Given the description of an element on the screen output the (x, y) to click on. 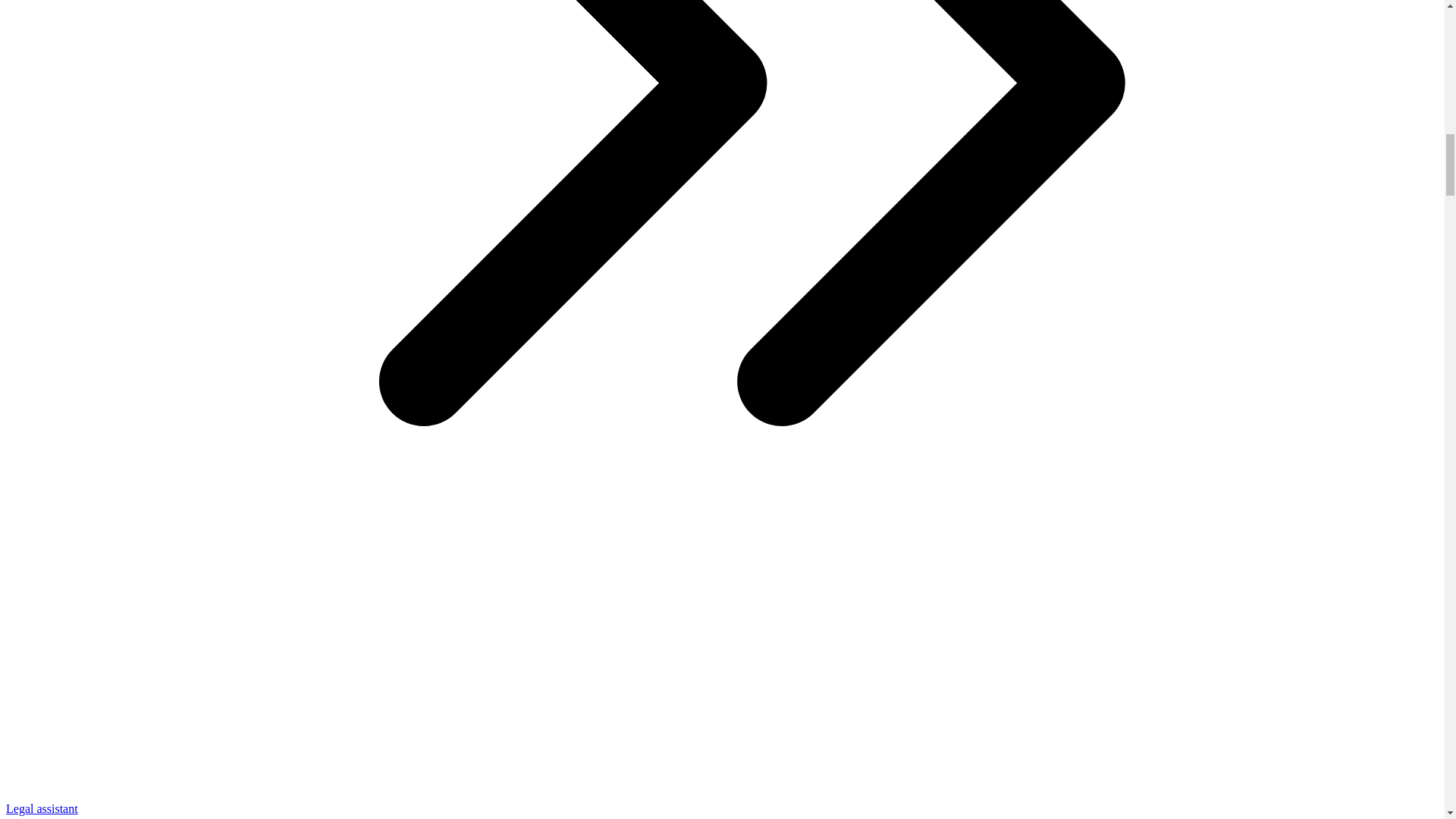
Legal assistant (41, 808)
